Given the description of an element on the screen output the (x, y) to click on. 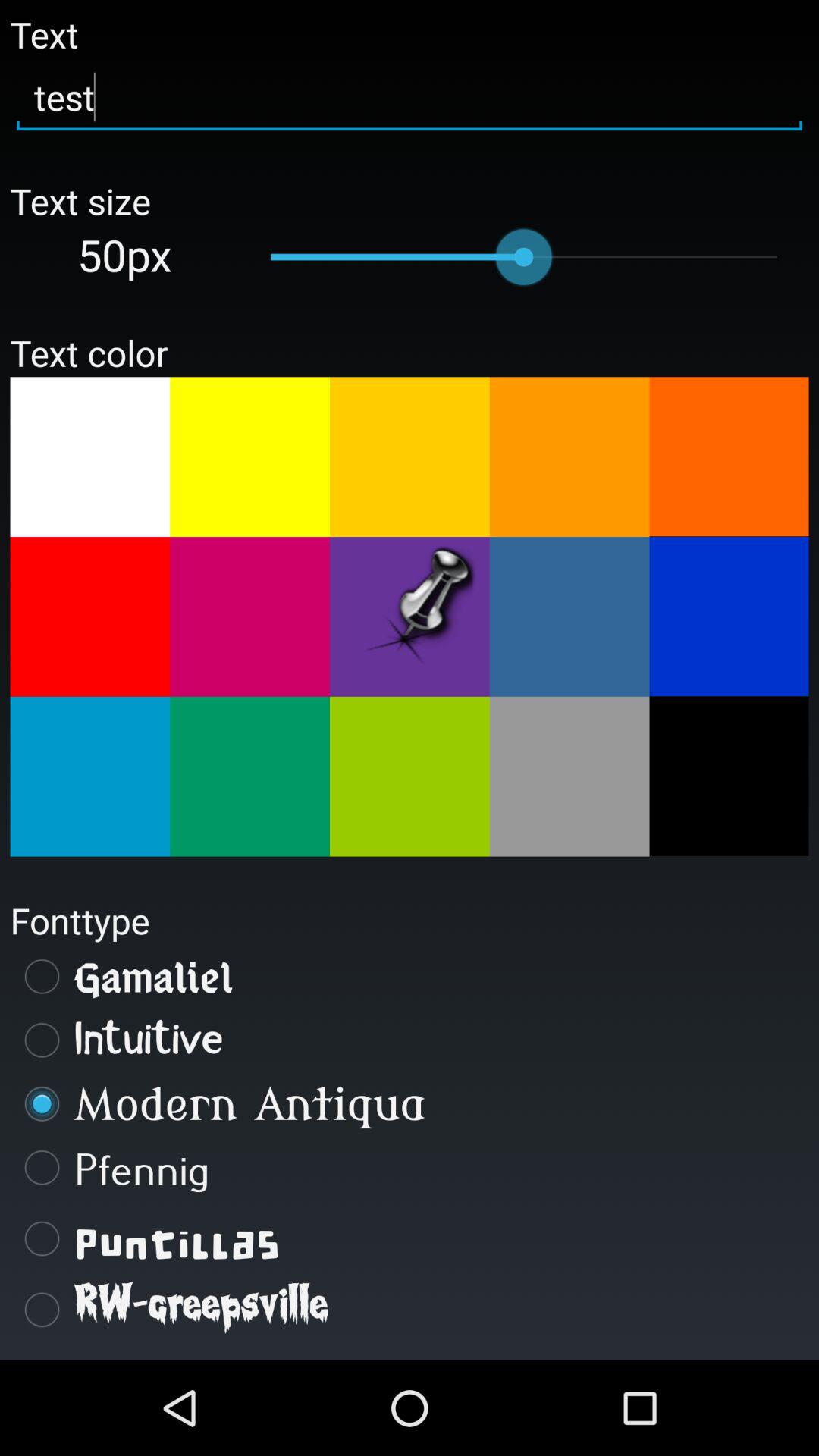
red (90, 616)
